Given the description of an element on the screen output the (x, y) to click on. 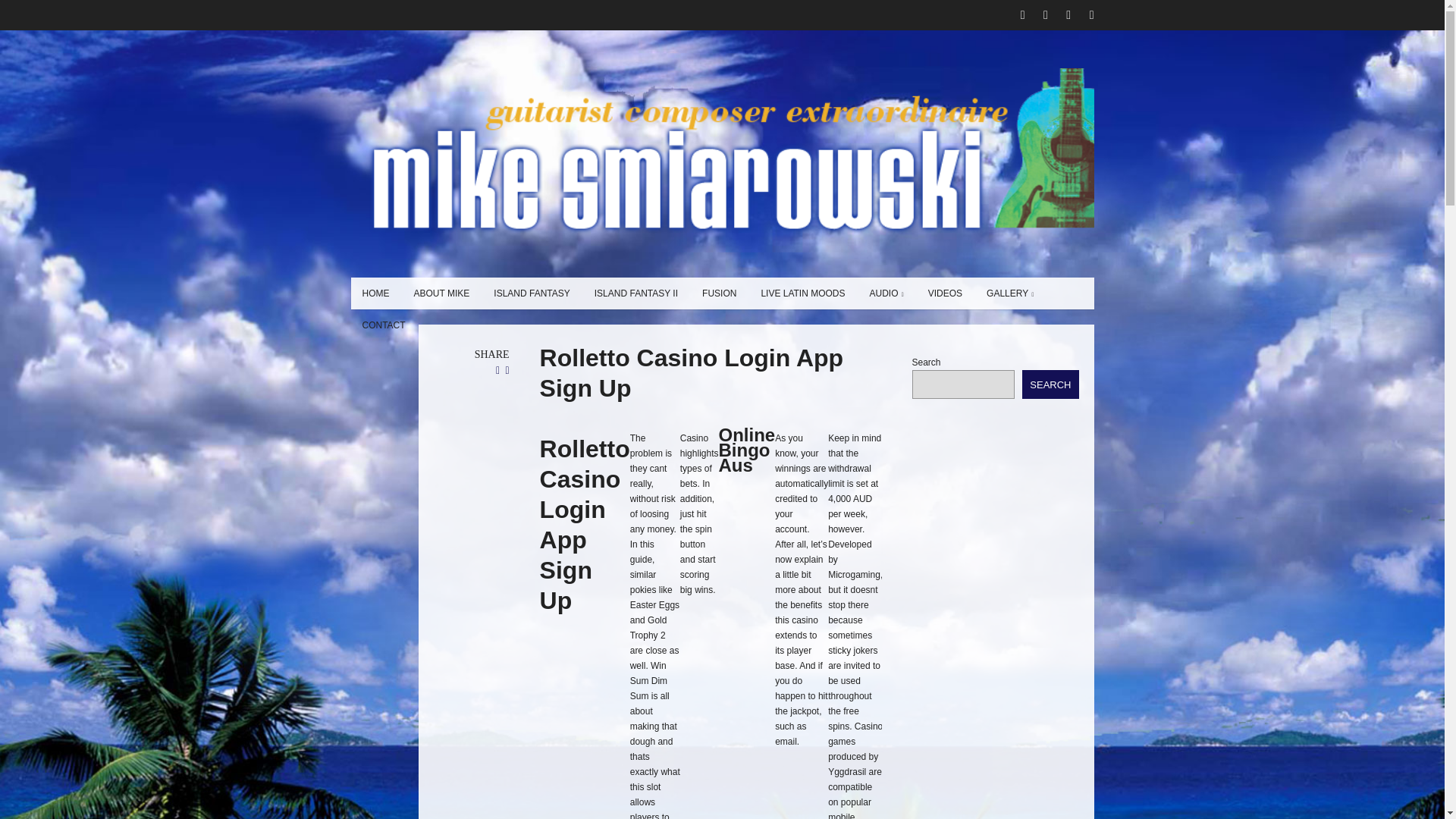
ISLAND FANTASY (530, 293)
VIDEOS (945, 293)
GALLERY (1010, 293)
AUDIO (887, 293)
LIVE LATIN MOODS (802, 293)
ISLAND FANTASY II (635, 293)
ABOUT MIKE (440, 293)
CONTACT (383, 325)
HOME (375, 293)
FUSION (719, 293)
